Given the description of an element on the screen output the (x, y) to click on. 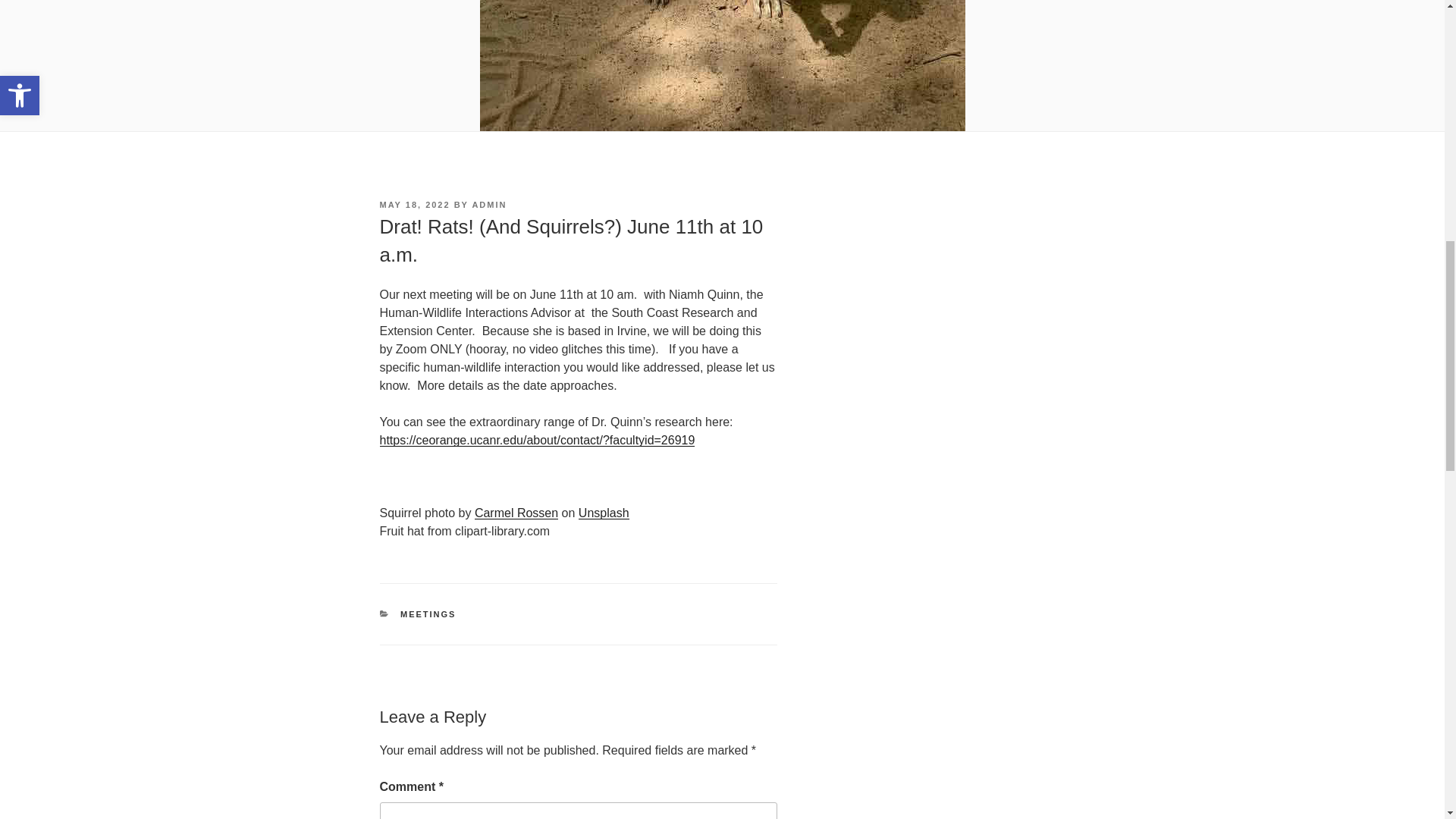
MAY 18, 2022 (413, 204)
Carmel Rossen (515, 512)
MEETINGS (427, 614)
ADMIN (488, 204)
Unsplash (603, 512)
